Given the description of an element on the screen output the (x, y) to click on. 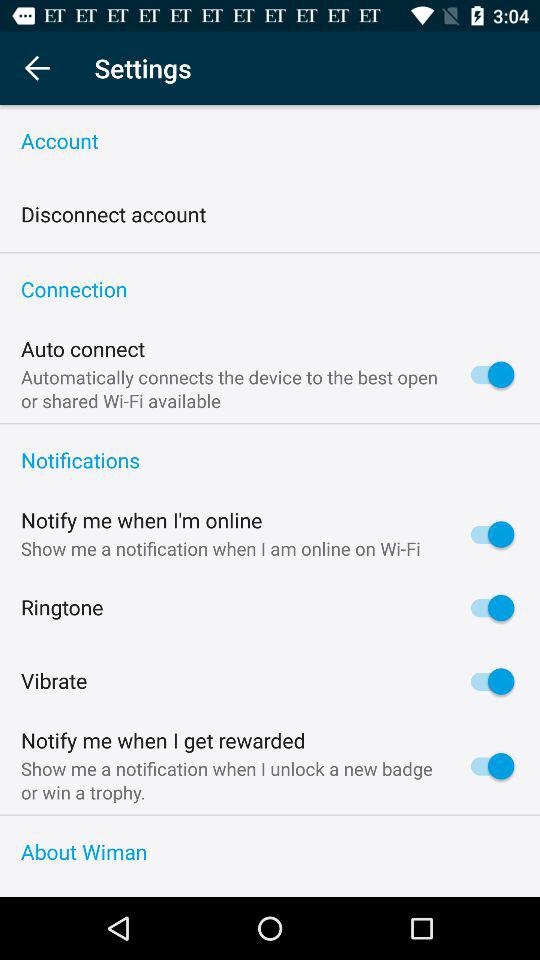
return to main menu (36, 68)
